Given the description of an element on the screen output the (x, y) to click on. 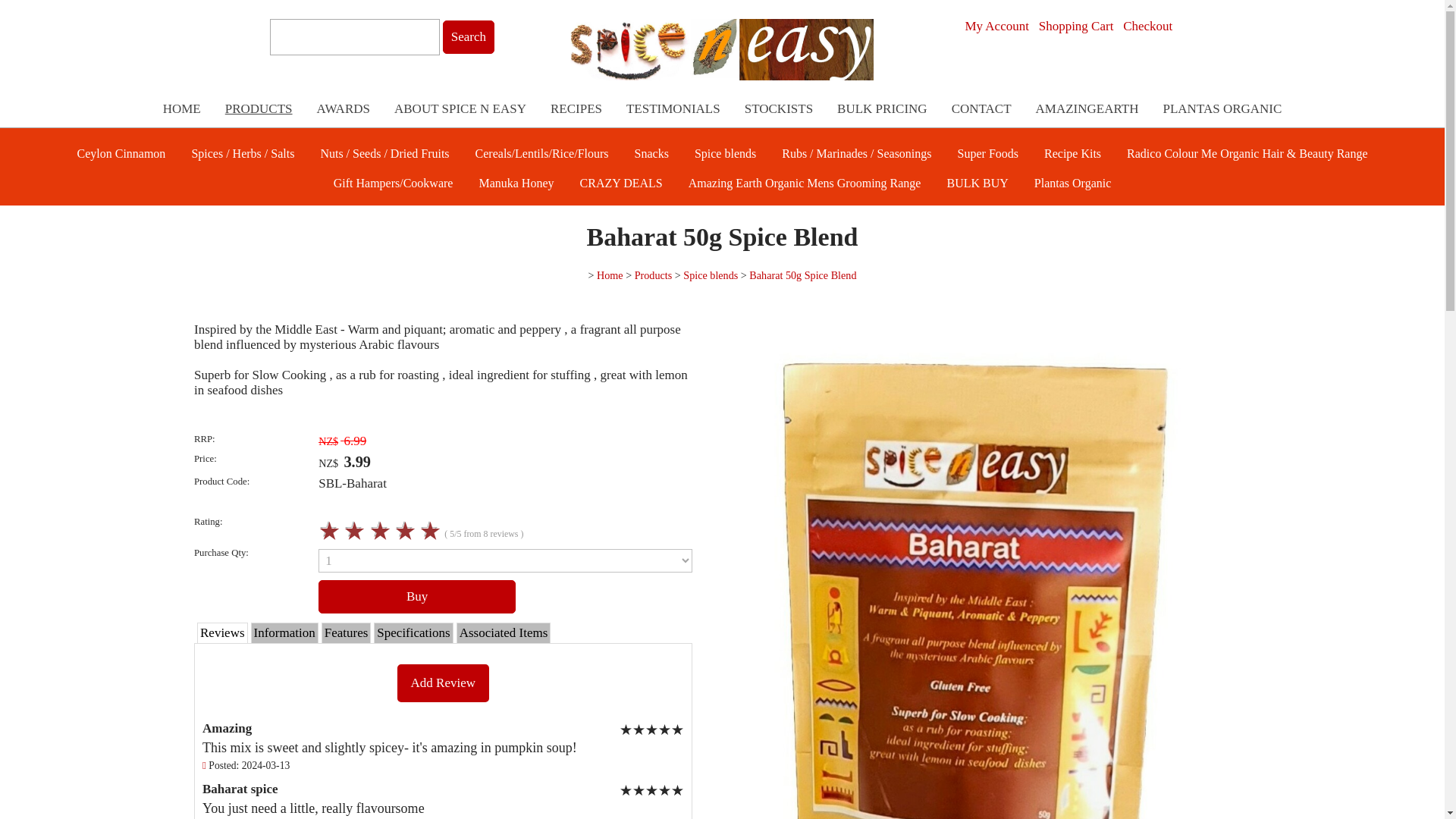
RECIPES (576, 108)
HOME (181, 108)
PRODUCTS (258, 108)
Plantas Organic (1072, 181)
Manuka Honey (515, 181)
Checkout (1147, 26)
My Account (996, 26)
Recipe Kits (1072, 152)
STOCKISTS (778, 108)
BULK PRICING (882, 108)
